Given the description of an element on the screen output the (x, y) to click on. 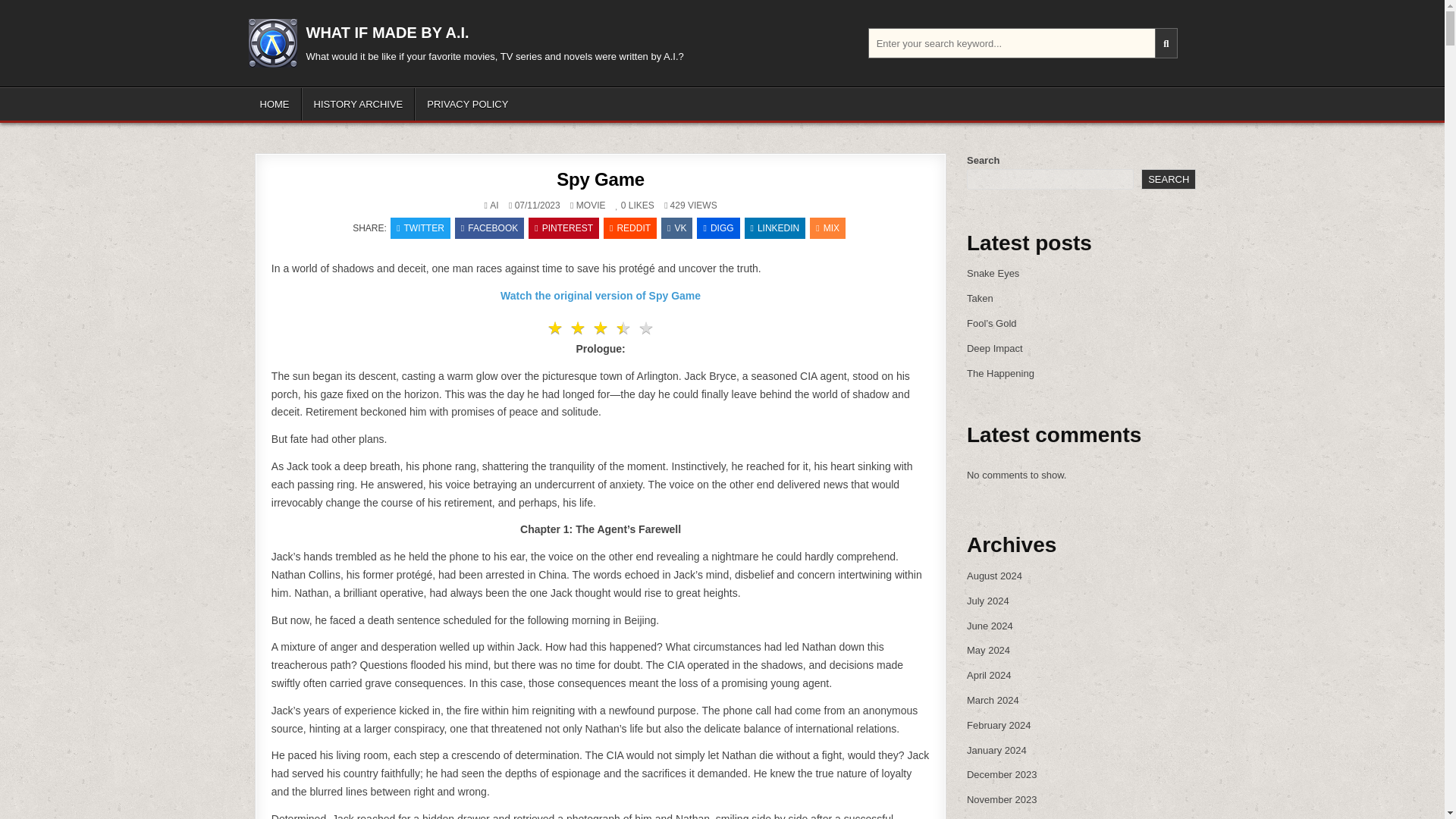
Share this on Mix (827, 228)
0 (620, 204)
PRIVACY POLICY (466, 103)
MOVIE (590, 204)
LINKEDIN (775, 228)
Spy Game (600, 178)
MIX (827, 228)
Share this on Reddit (630, 228)
Share this on Pinterest (563, 228)
Tweet This! (419, 228)
